Given the description of an element on the screen output the (x, y) to click on. 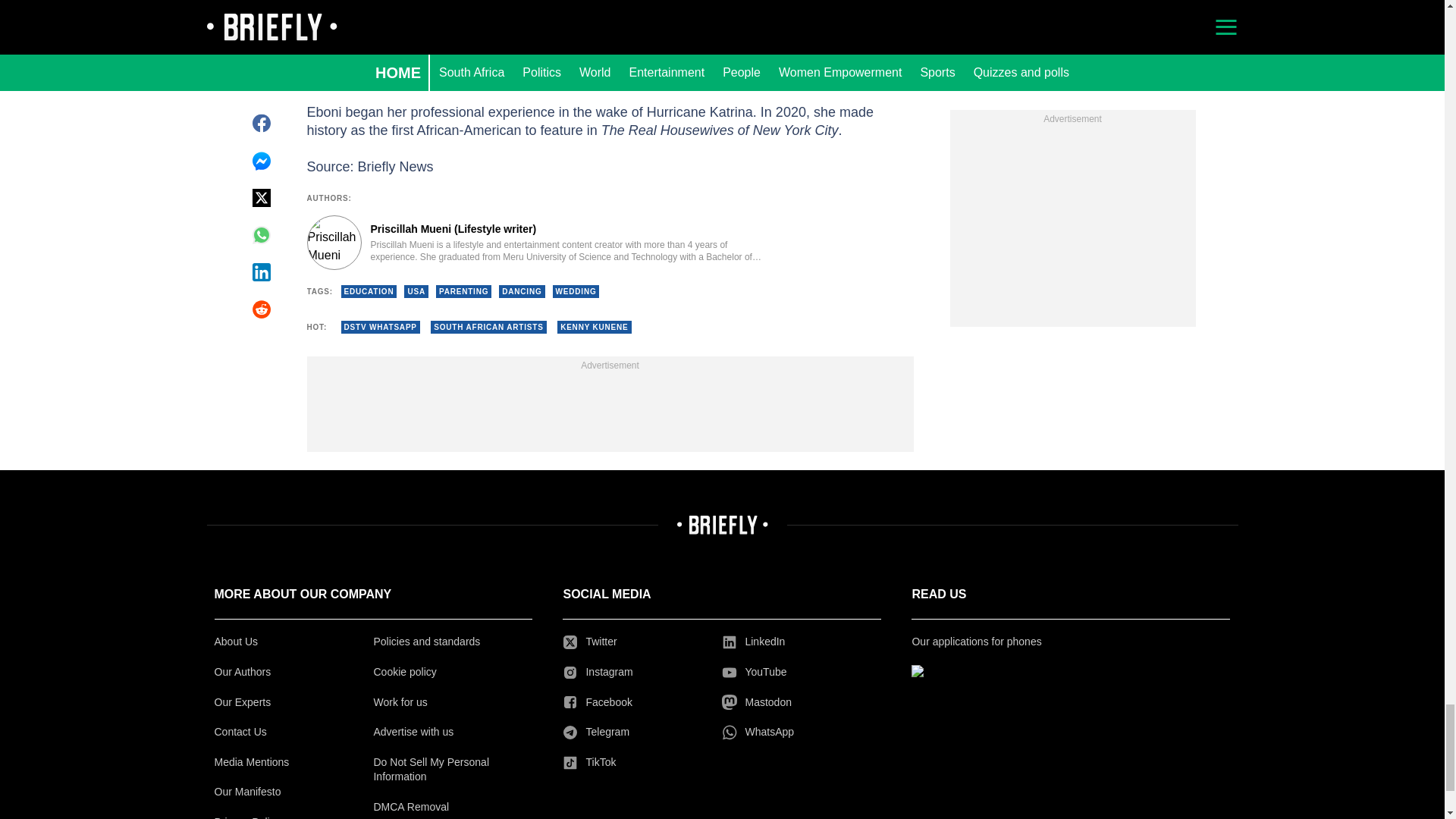
Author page (533, 242)
